Given the description of an element on the screen output the (x, y) to click on. 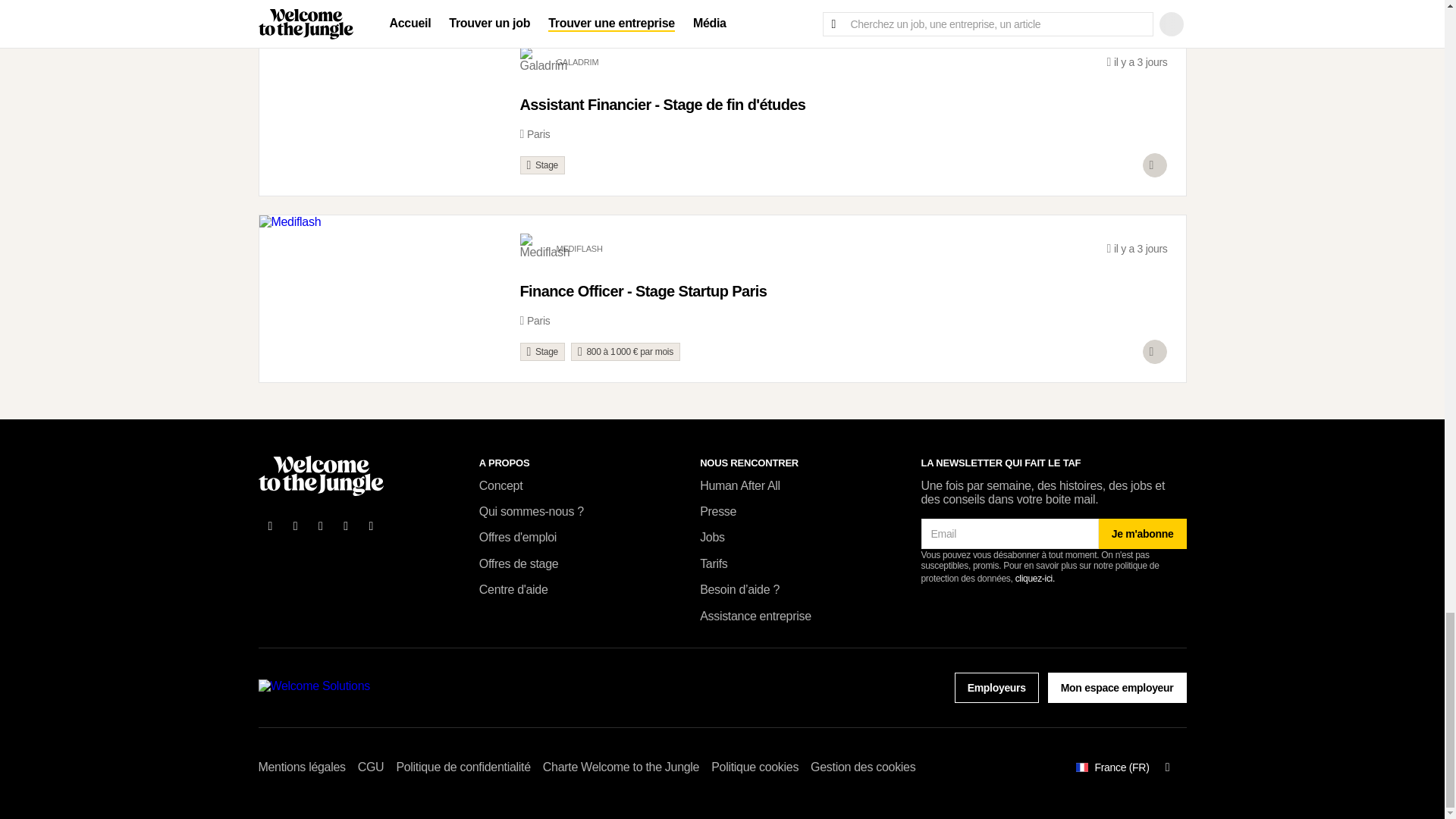
Instagram (371, 526)
Finance Officer - Stage Startup Paris (843, 297)
Facebook (269, 526)
Welcome to the Jungle (319, 475)
LinkedIn (320, 526)
Twitter (295, 526)
YouTube (345, 526)
